Given the description of an element on the screen output the (x, y) to click on. 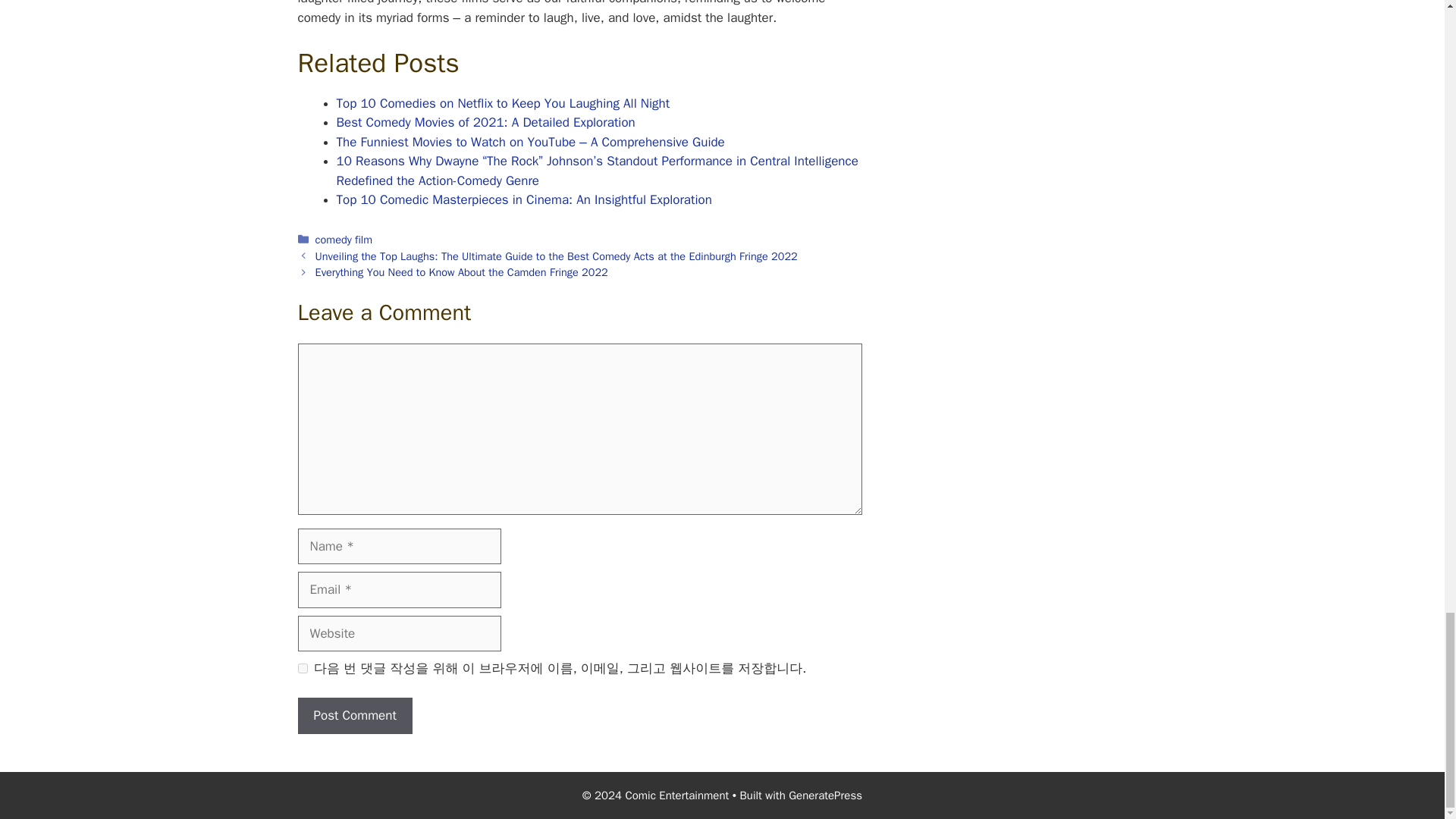
Post Comment (354, 715)
Top 10 Comedies on Netflix to Keep You Laughing All Night (502, 103)
Post Comment (354, 715)
comedy film (343, 239)
yes (302, 668)
Best Comedy Movies of 2021: A Detailed Exploration (485, 122)
Everything You Need to Know About the Camden Fringe 2022 (461, 272)
